Given the description of an element on the screen output the (x, y) to click on. 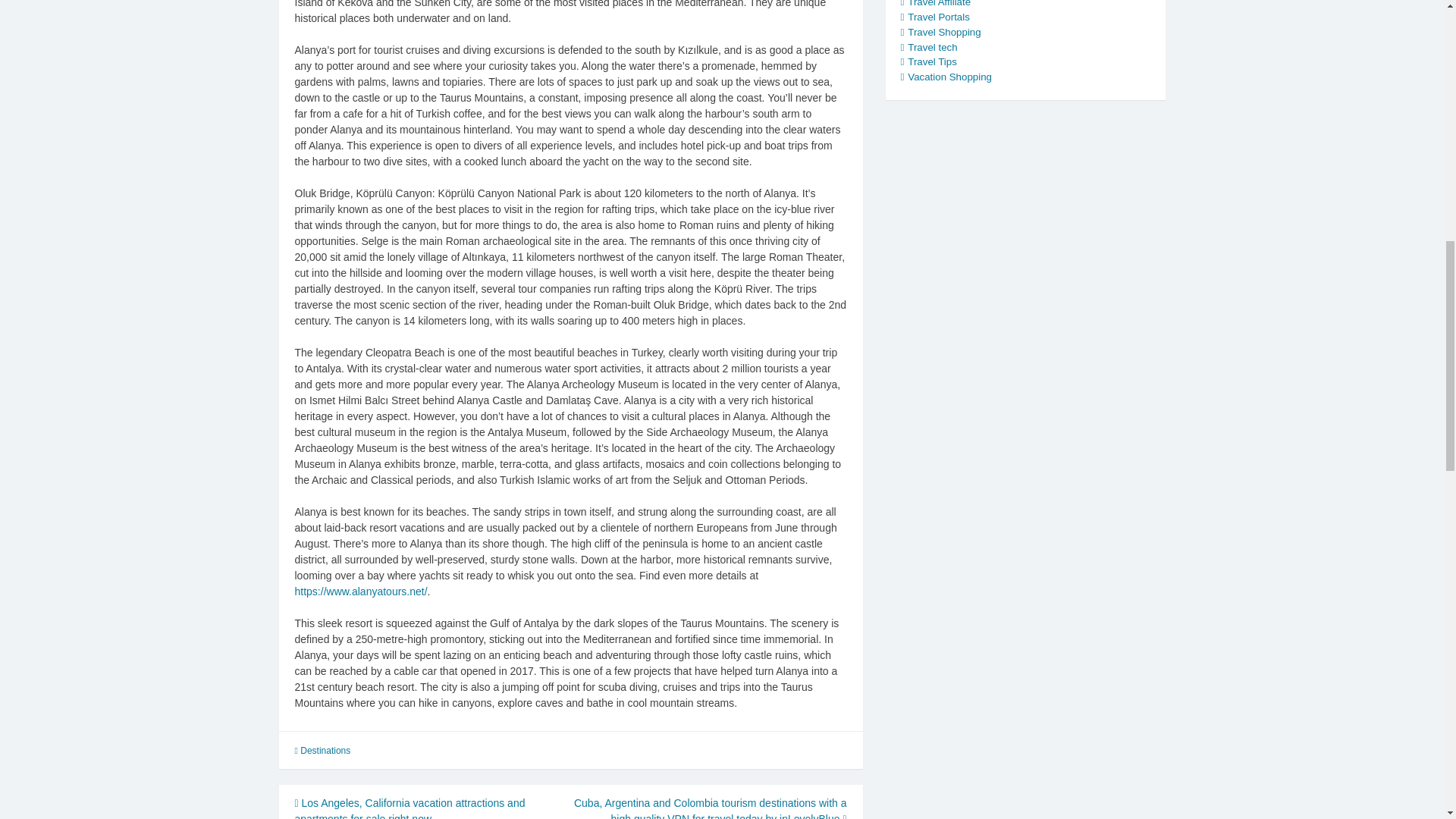
Destinations (324, 750)
